Given the description of an element on the screen output the (x, y) to click on. 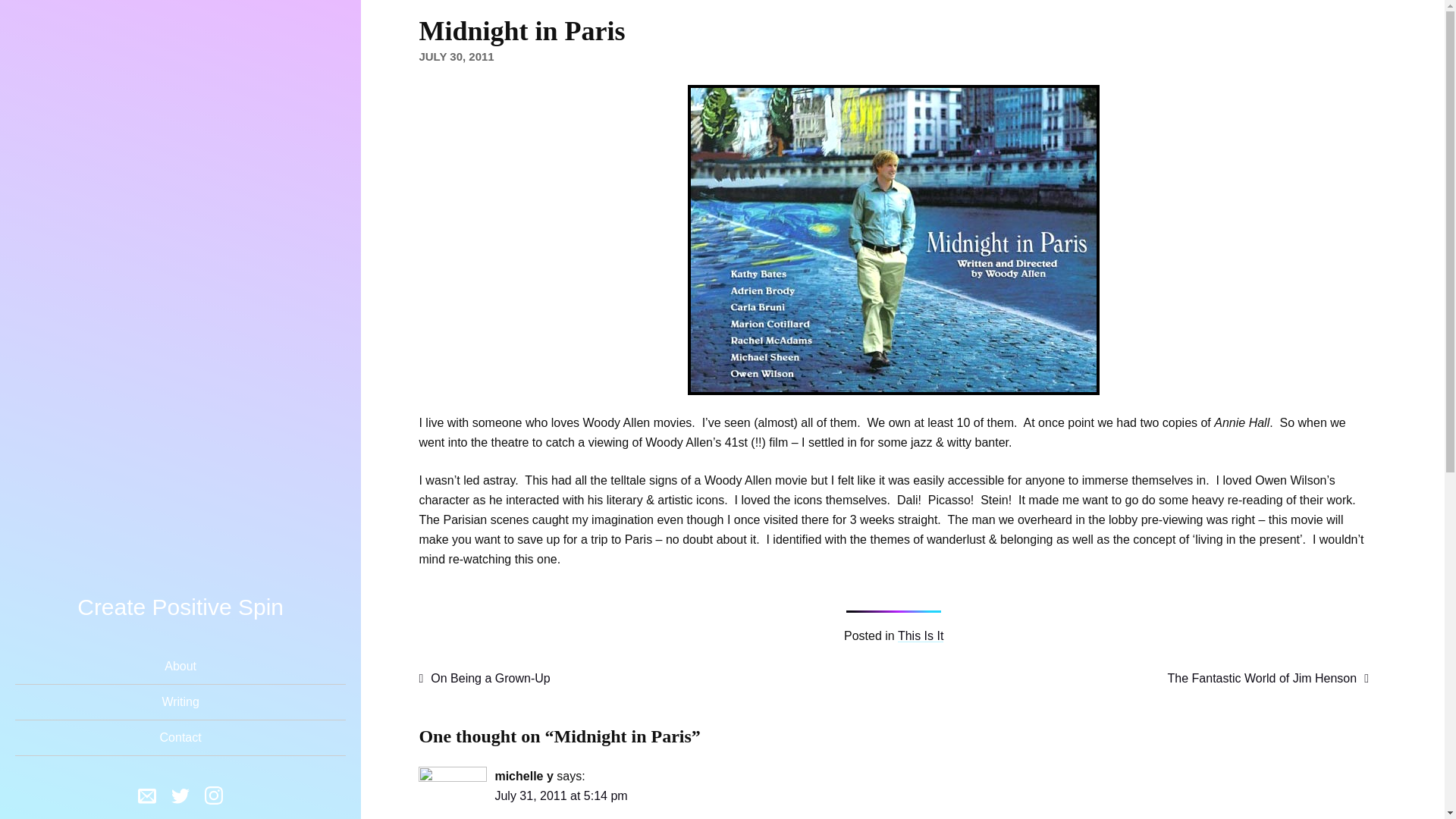
Writing (180, 701)
On Being a Grown-Up (484, 677)
This Is It (920, 635)
July 31, 2011 at 5:14 pm (561, 795)
About (180, 666)
The Fantastic World of Jim Henson (1267, 677)
instagram (213, 794)
twitter (180, 798)
Create Positive Spin (180, 606)
Contact (180, 737)
